Given the description of an element on the screen output the (x, y) to click on. 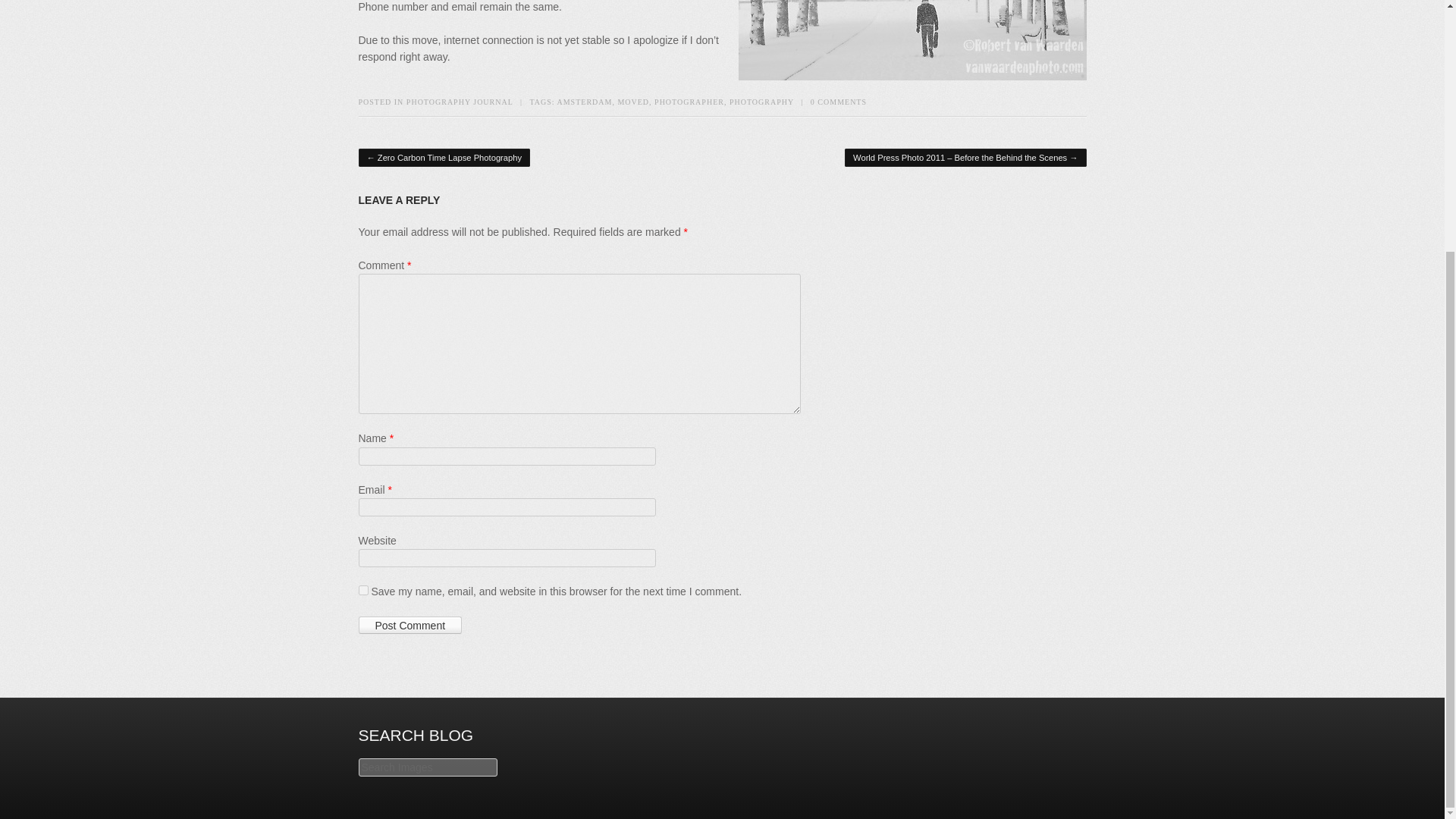
Post Comment (409, 625)
yes (363, 590)
Search Images (427, 767)
